Given the description of an element on the screen output the (x, y) to click on. 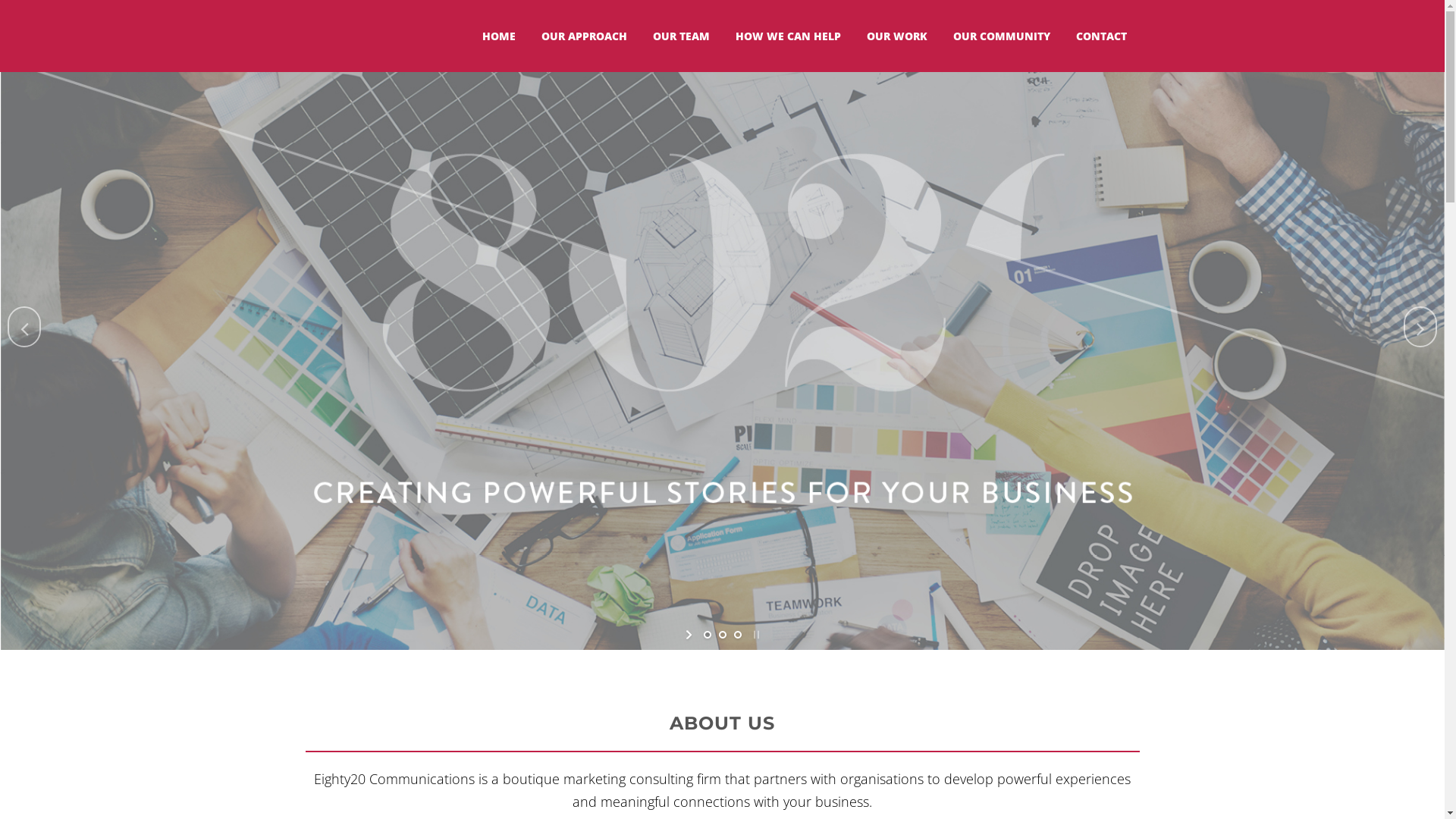
OUR TEAM Element type: text (681, 36)
HOW WE CAN HELP Element type: text (787, 36)
OUR COMMUNITY Element type: text (1001, 36)
CONTACT Element type: text (1101, 36)
OUR WORK Element type: text (896, 36)
OUR APPROACH Element type: text (583, 36)
HOME Element type: text (497, 36)
